Given the description of an element on the screen output the (x, y) to click on. 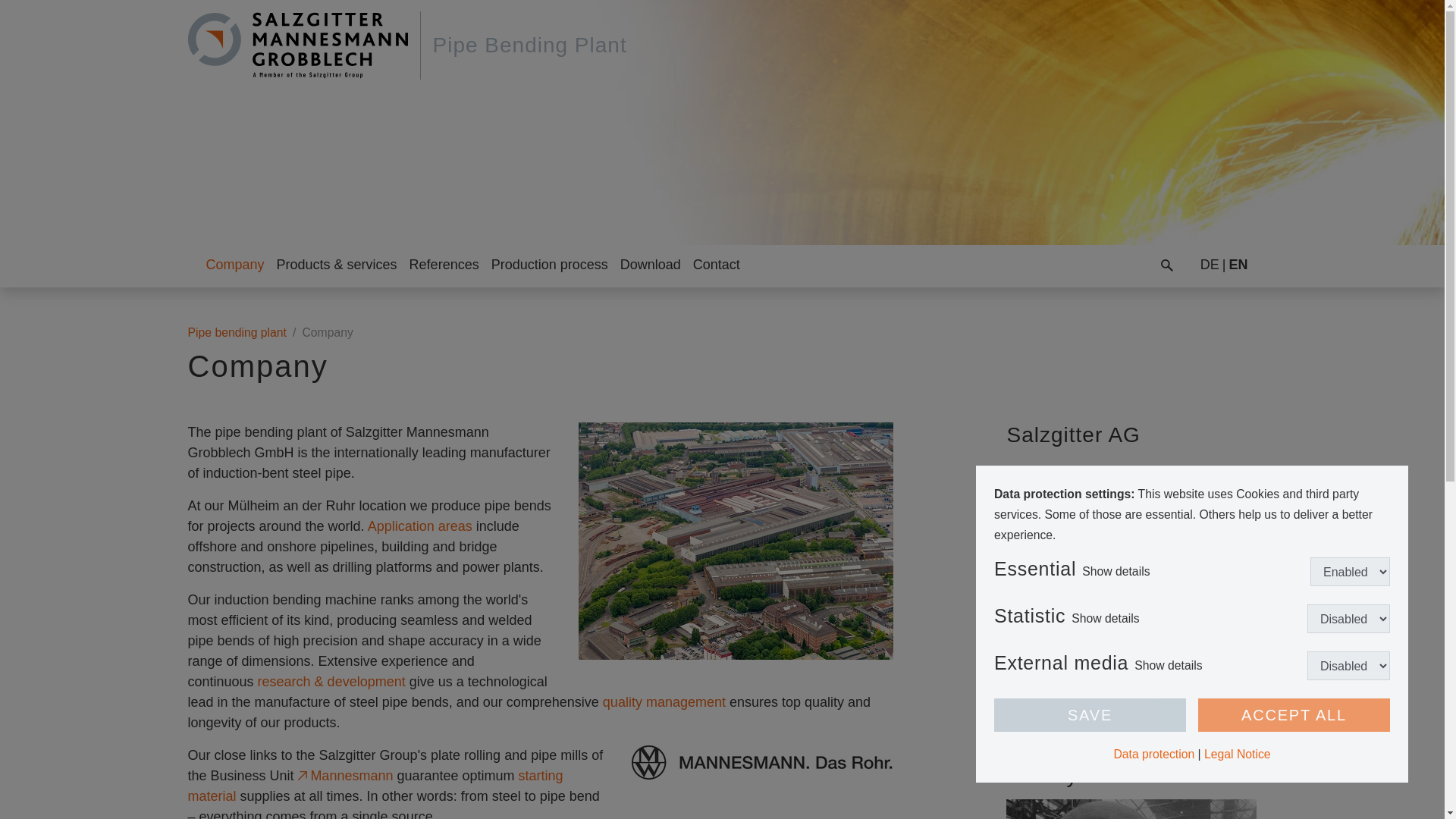
Group's mission statement "YOUNITED" (1131, 680)
Mannesmann. Das Rohr. (761, 762)
History (1131, 809)
Group's mission statement "YOUNITED" (1131, 678)
Salzgitter Mannesmann Grobblech from above (735, 541)
Logo of the Salzgitter Mannesmann Grobblech GmbH (297, 45)
Opens internal link in current window (331, 681)
Opens internal link in current window (375, 785)
Opens internal link in current window (419, 525)
